Given the description of an element on the screen output the (x, y) to click on. 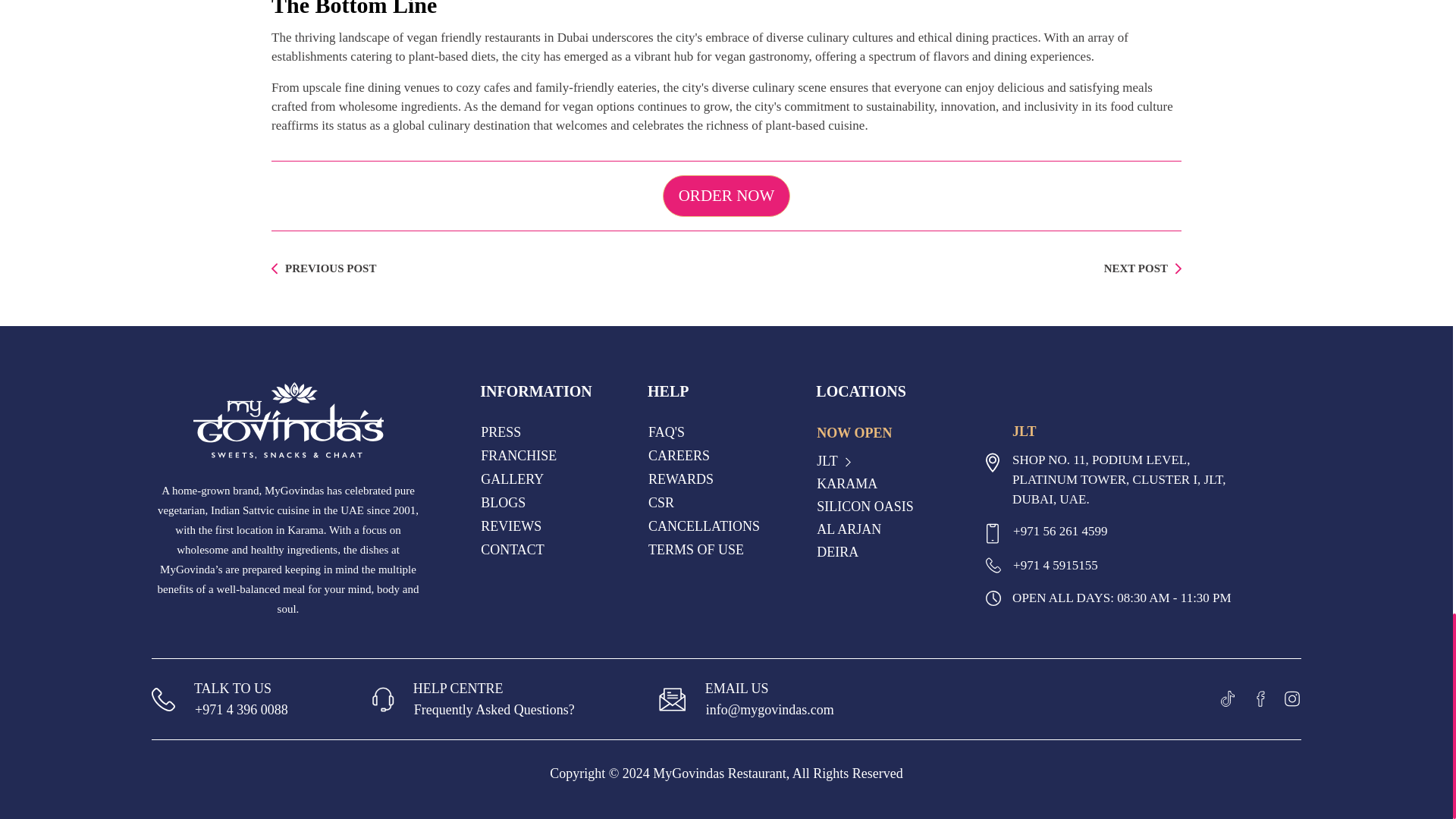
ORDER NOW (726, 196)
PRESS (500, 432)
FAQ'S (666, 432)
NOW OPEN (853, 432)
CONTACT (512, 549)
CANCELLATIONS (703, 526)
PREVIOUS POST (322, 268)
CSR (661, 502)
REVIEWS (510, 526)
BLOGS (502, 502)
TERMS OF USE (695, 549)
CAREERS (678, 456)
FRANCHISE (518, 456)
GALLERY (512, 479)
REWARDS (680, 479)
